Given the description of an element on the screen output the (x, y) to click on. 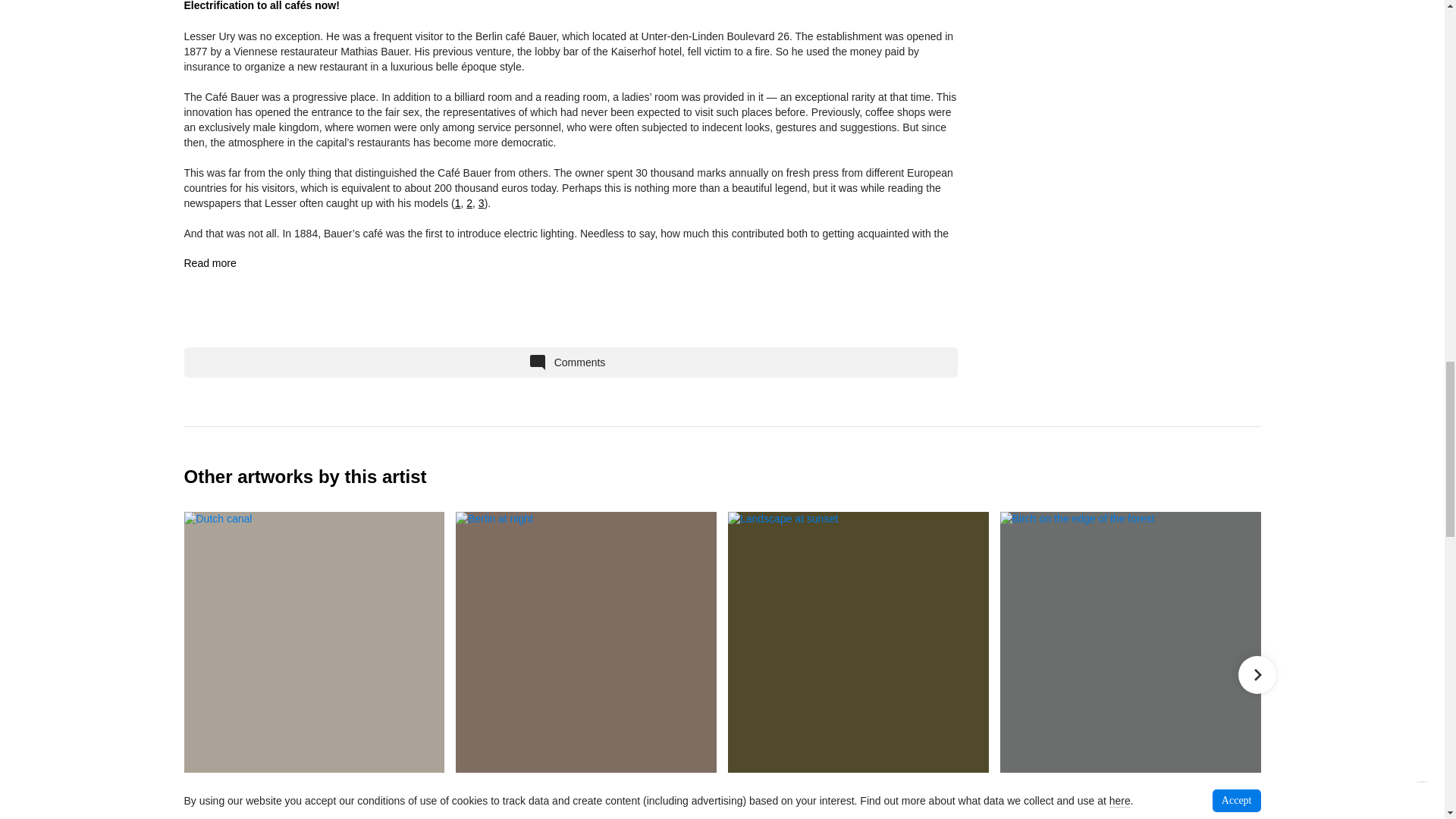
Berlin at night (585, 642)
Birch on the edge of the forest (1130, 642)
Dutch canal (313, 642)
Landscape at sunset (858, 642)
